Given the description of an element on the screen output the (x, y) to click on. 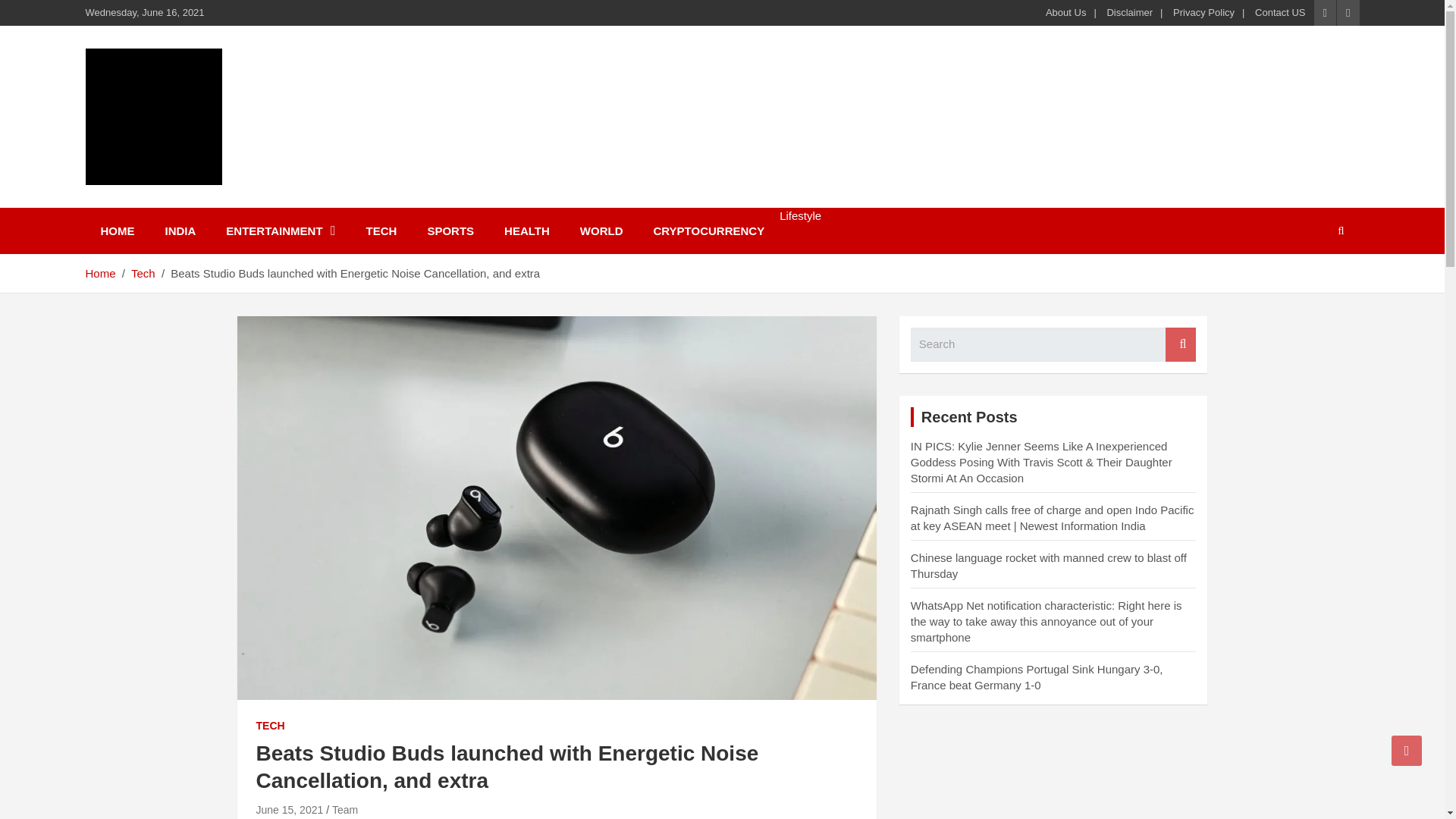
Tech (143, 273)
June 15, 2021 (289, 809)
CRYPTOCURRENCY (707, 230)
Disclaimer (1129, 12)
India Live News (198, 204)
Go to Top (1406, 750)
Home (99, 273)
INDIA (180, 230)
WORLD (601, 230)
